Given the description of an element on the screen output the (x, y) to click on. 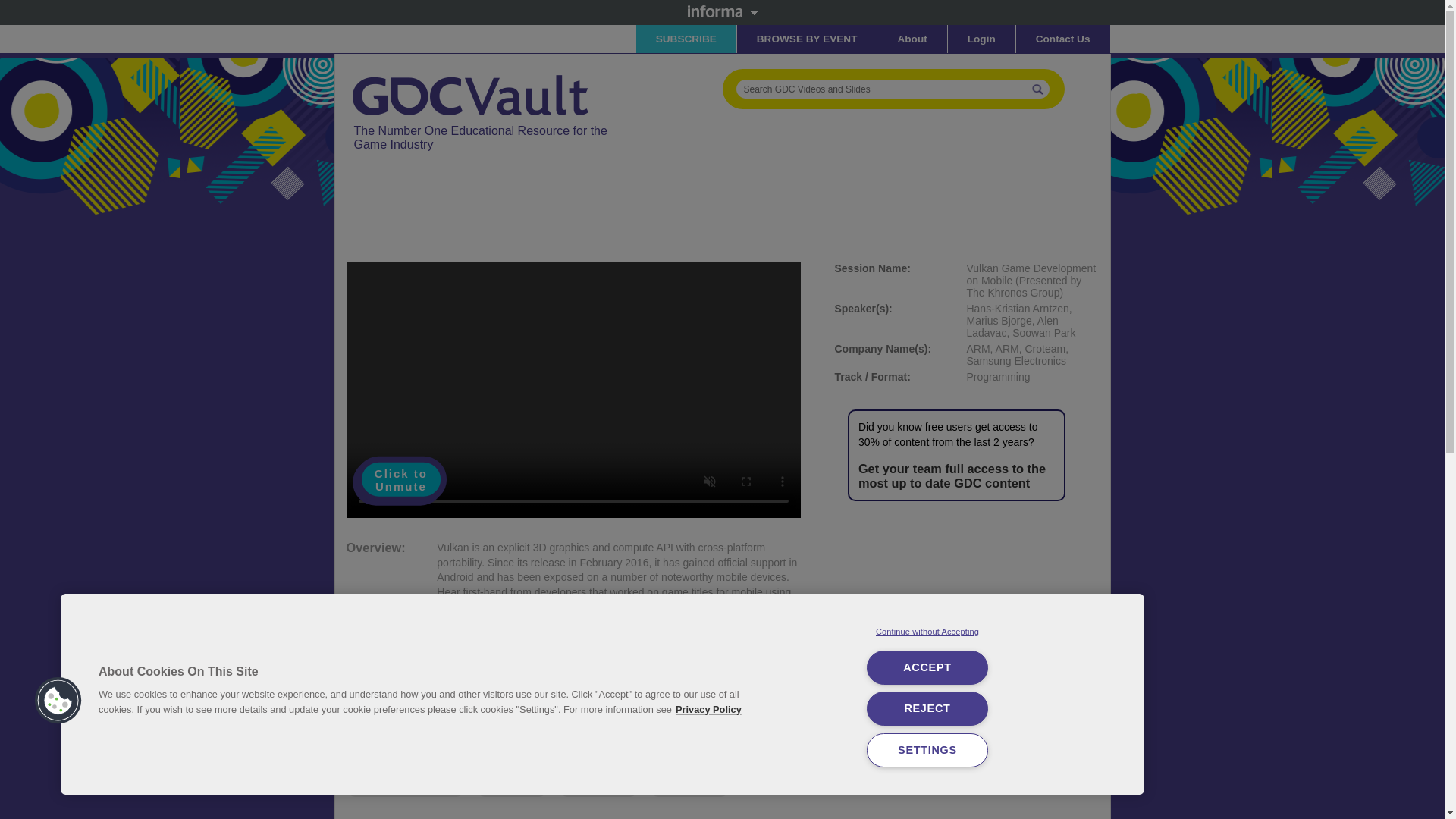
Get your team full access to the most up to date GDC content (952, 475)
Login (980, 39)
Contact Us (1062, 39)
Go to GDC Vault homepage (472, 74)
SUBSCRIBE (686, 39)
BROWSE BY EVENT (806, 39)
3rd party ad content (622, 213)
3rd party ad content (965, 618)
Informa (722, 10)
About (911, 39)
Cookies Button (57, 700)
